Given the description of an element on the screen output the (x, y) to click on. 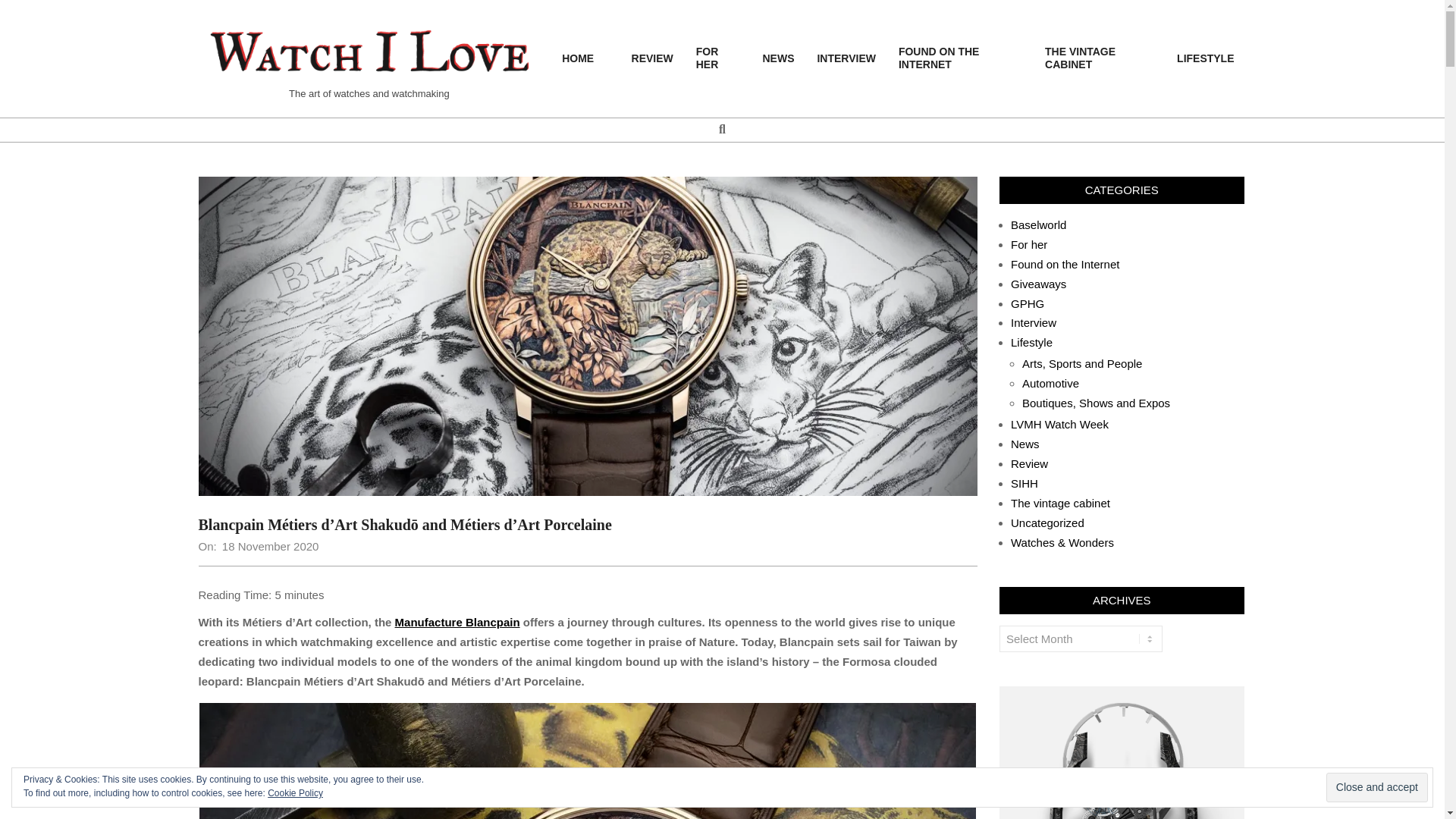
FOR HER (717, 58)
FOUND ON THE INTERNET (959, 58)
THE VINTAGE CABINET (1099, 58)
Close and accept (1377, 787)
REVIEW (652, 58)
INTERVIEW (845, 58)
HOME      (585, 58)
NEWS (778, 58)
Manufacture Blancpain (456, 621)
LIFESTYLE (1205, 58)
Search (21, 8)
Wednesday, November 18, 2020, 2:00 pm (270, 545)
